Given the description of an element on the screen output the (x, y) to click on. 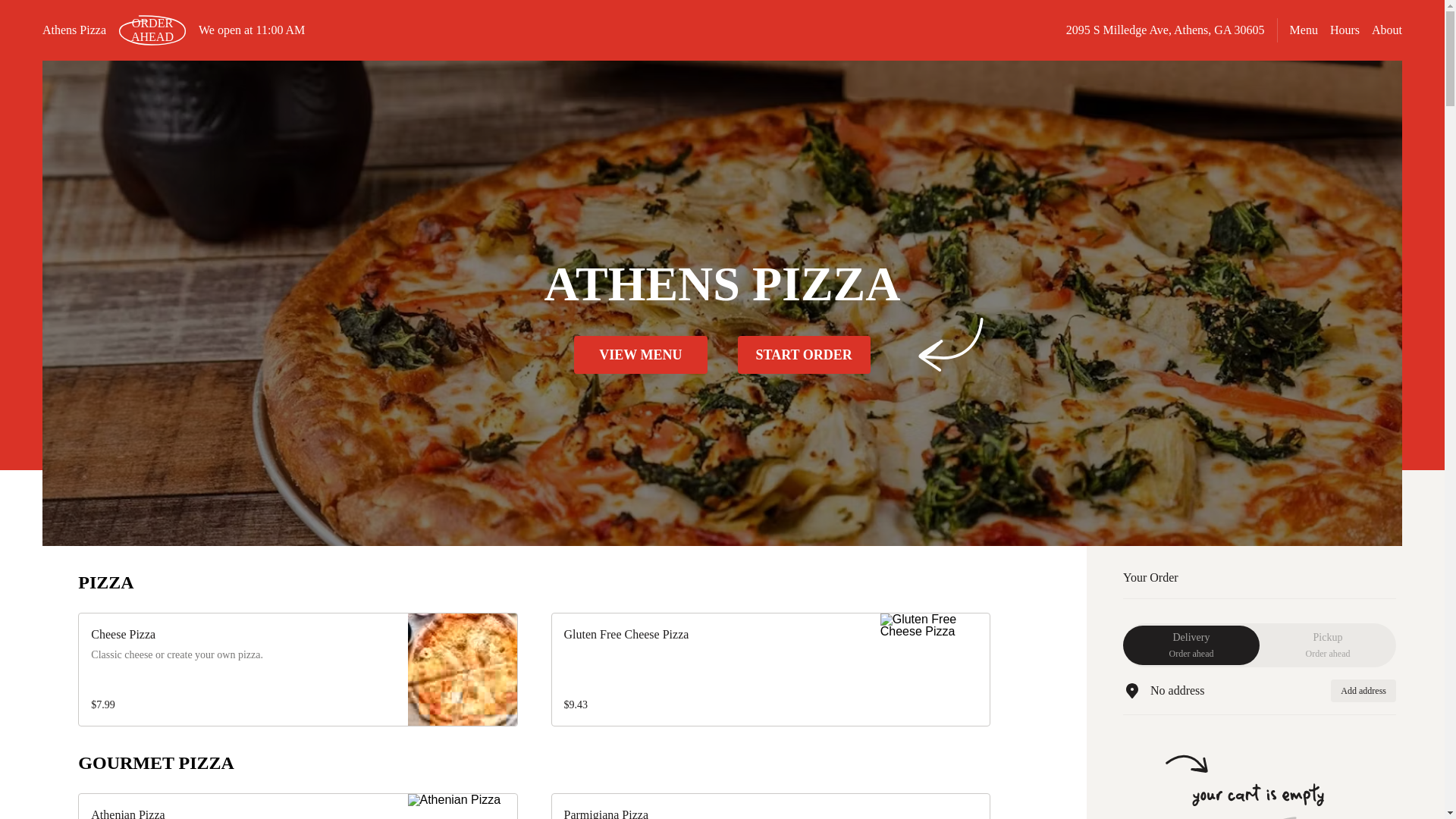
Menu (1303, 29)
Hours (1190, 645)
START ORDER (1344, 30)
Add address (802, 354)
ORDER AHEAD (1363, 690)
About (151, 30)
VIEW MENU (1386, 29)
